Given the description of an element on the screen output the (x, y) to click on. 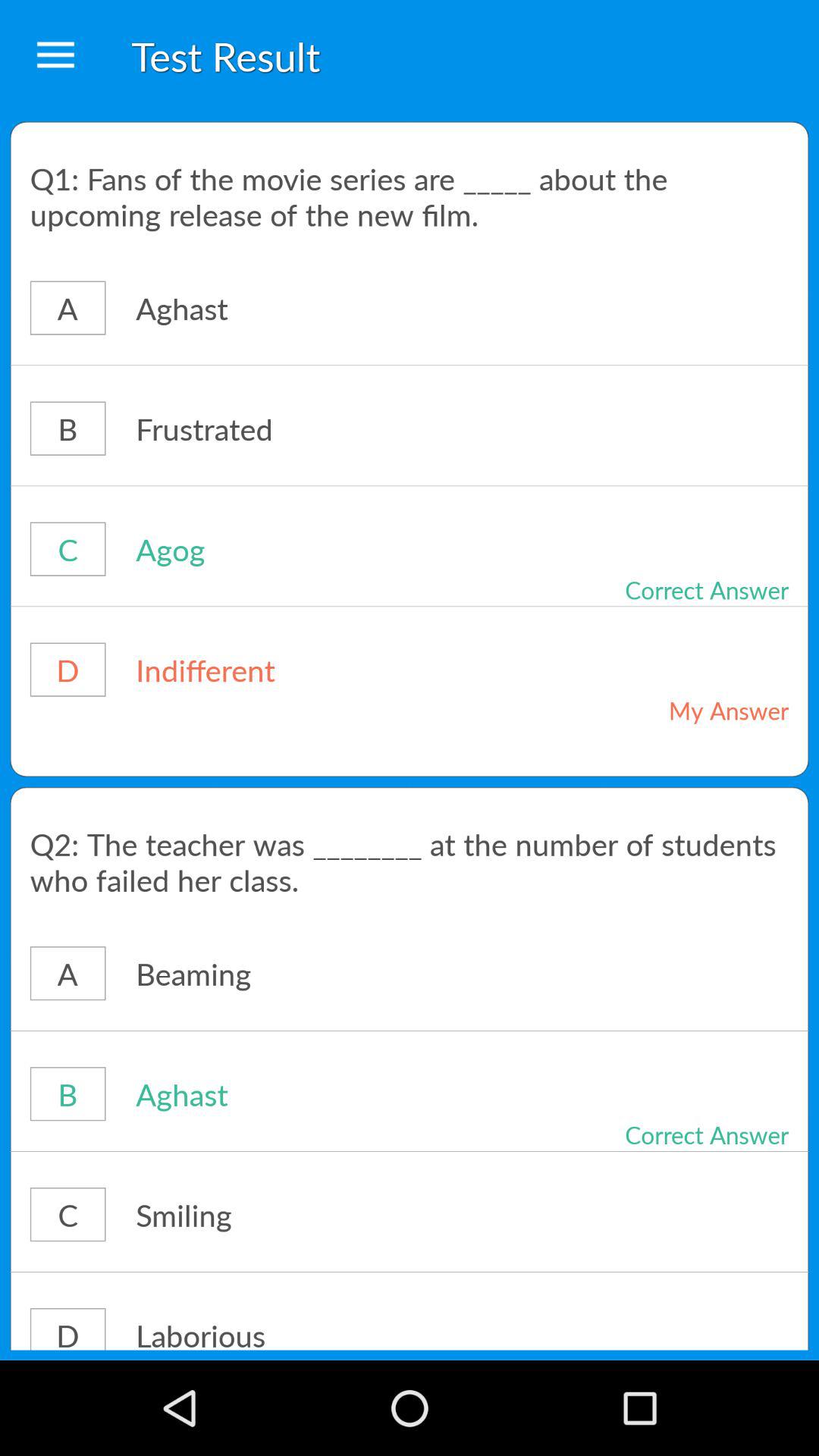
press the frustrated icon (313, 428)
